Given the description of an element on the screen output the (x, y) to click on. 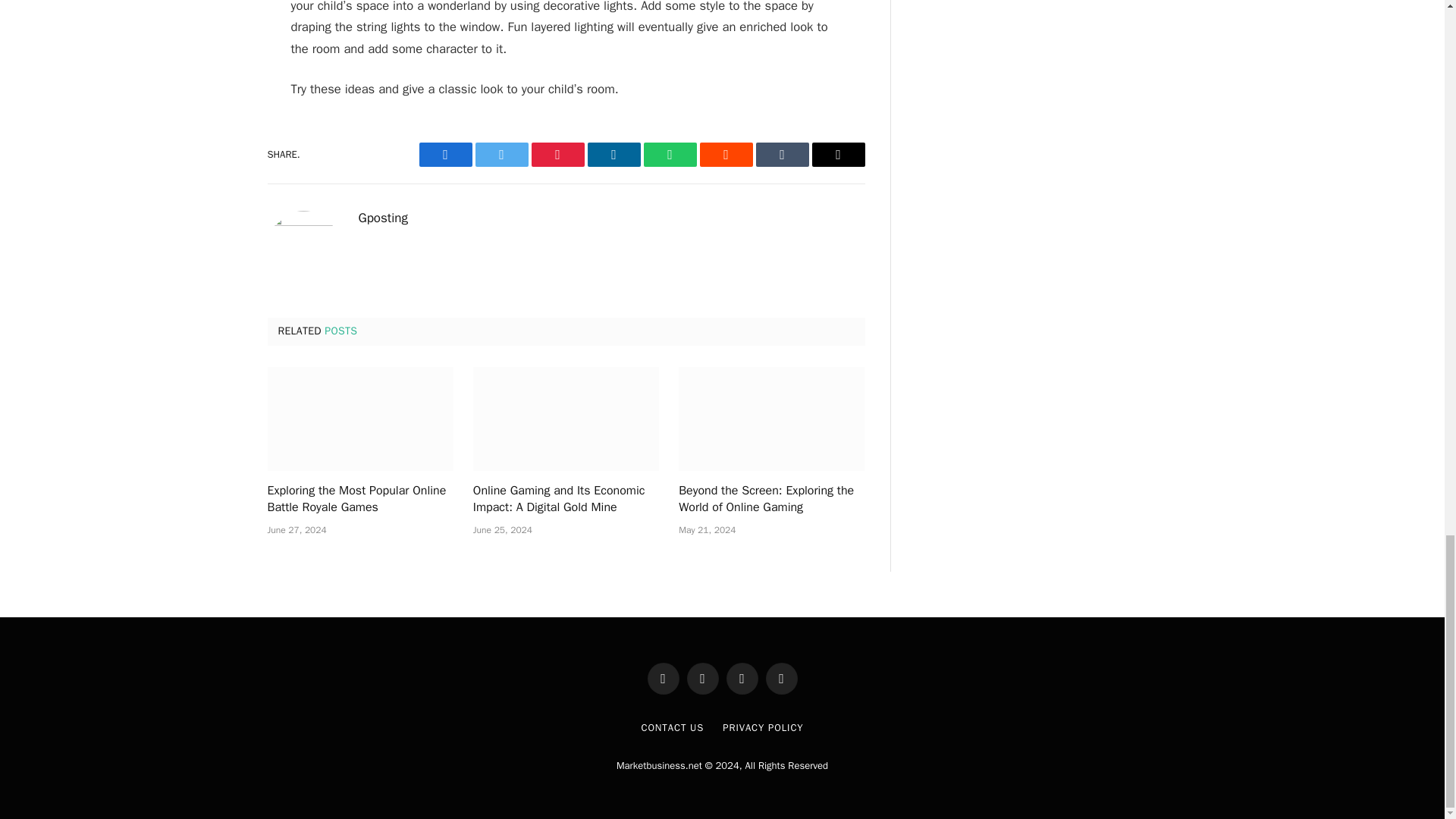
WhatsApp (669, 154)
Pinterest (557, 154)
Share on WhatsApp (669, 154)
Twitter (500, 154)
Share on LinkedIn (613, 154)
Share on Pinterest (557, 154)
Facebook (445, 154)
Reddit (725, 154)
Share on Facebook (445, 154)
LinkedIn (613, 154)
